Given the description of an element on the screen output the (x, y) to click on. 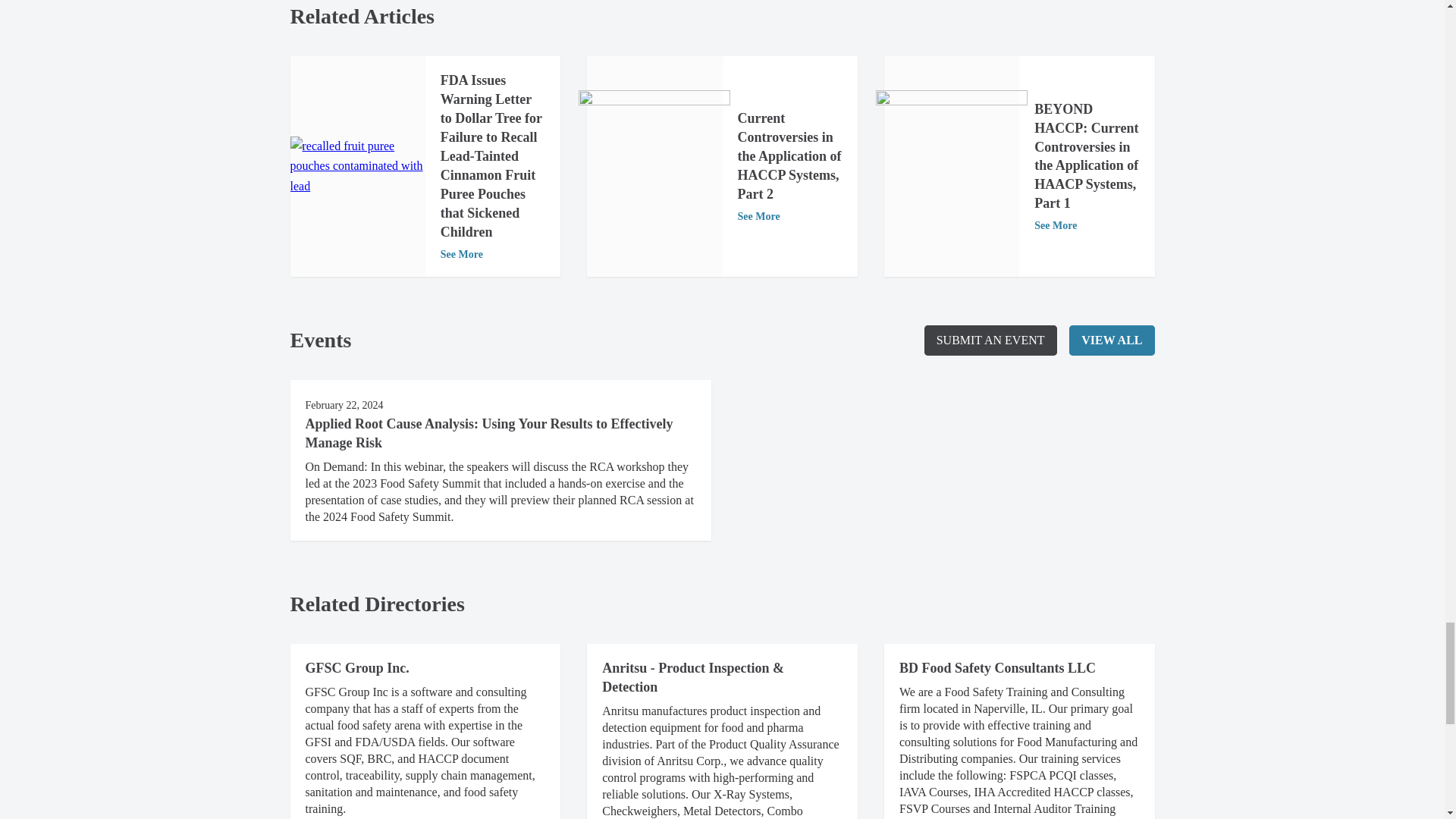
recalled fruit puree pouches contaminated with lead.png (357, 166)
6702BeyondHACCP.jpg (654, 165)
4502BeyondHACCPcoverstory.jpg (951, 165)
